Given the description of an element on the screen output the (x, y) to click on. 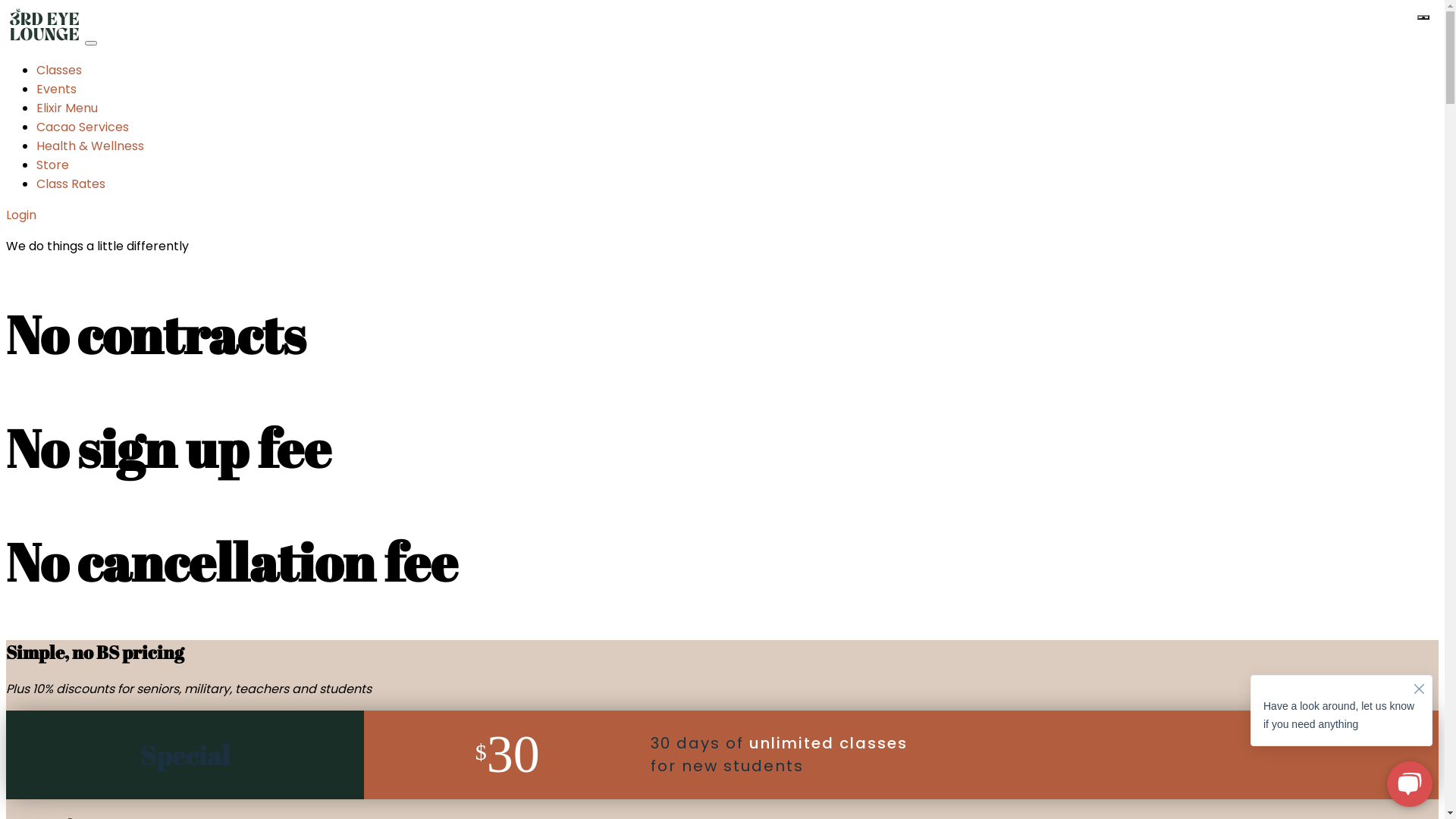
Login Element type: text (21, 214)
Cacao Services Element type: text (82, 126)
Elixir Menu Element type: text (66, 107)
Health & Wellness Element type: text (90, 144)
Class Rates Element type: text (70, 182)
Store Element type: text (52, 164)
Events Element type: text (56, 88)
Special
$30 30 days of unlimited classes
for new students Element type: text (722, 754)
Classes Element type: text (58, 69)
